Given the description of an element on the screen output the (x, y) to click on. 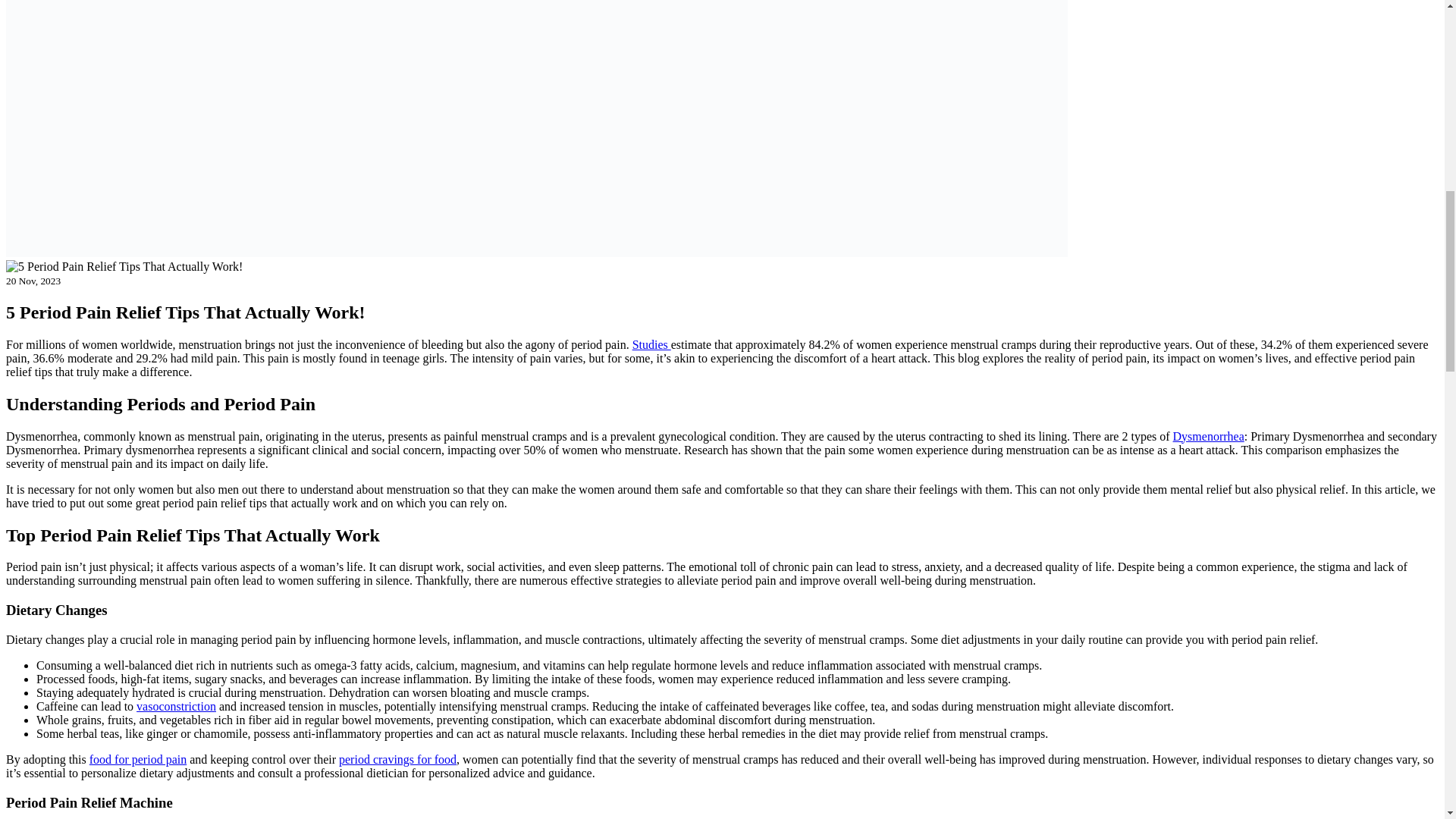
period cravings for food (398, 758)
food for period pain (137, 758)
Studies (651, 344)
vasoconstriction (175, 706)
Dysmenorrhea (1208, 436)
